Given the description of an element on the screen output the (x, y) to click on. 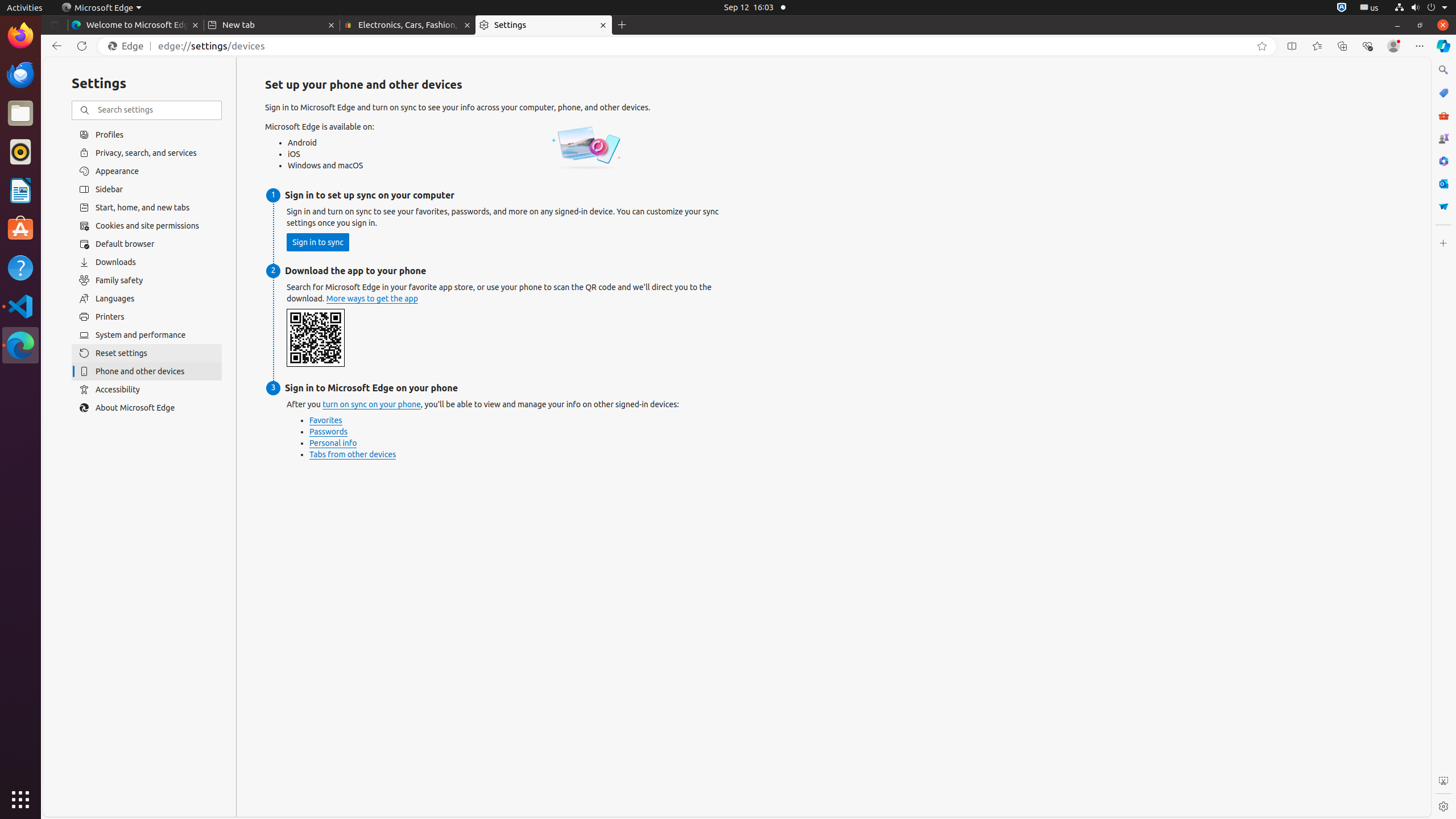
Cookies and site permissions Element type: tree-item (146, 225)
Settings and more (Alt+F) Element type: push-button (1419, 45)
Outlook Element type: push-button (1443, 183)
Printers Element type: tree-item (146, 316)
Browser essentials Element type: push-button (1366, 45)
